Given the description of an element on the screen output the (x, y) to click on. 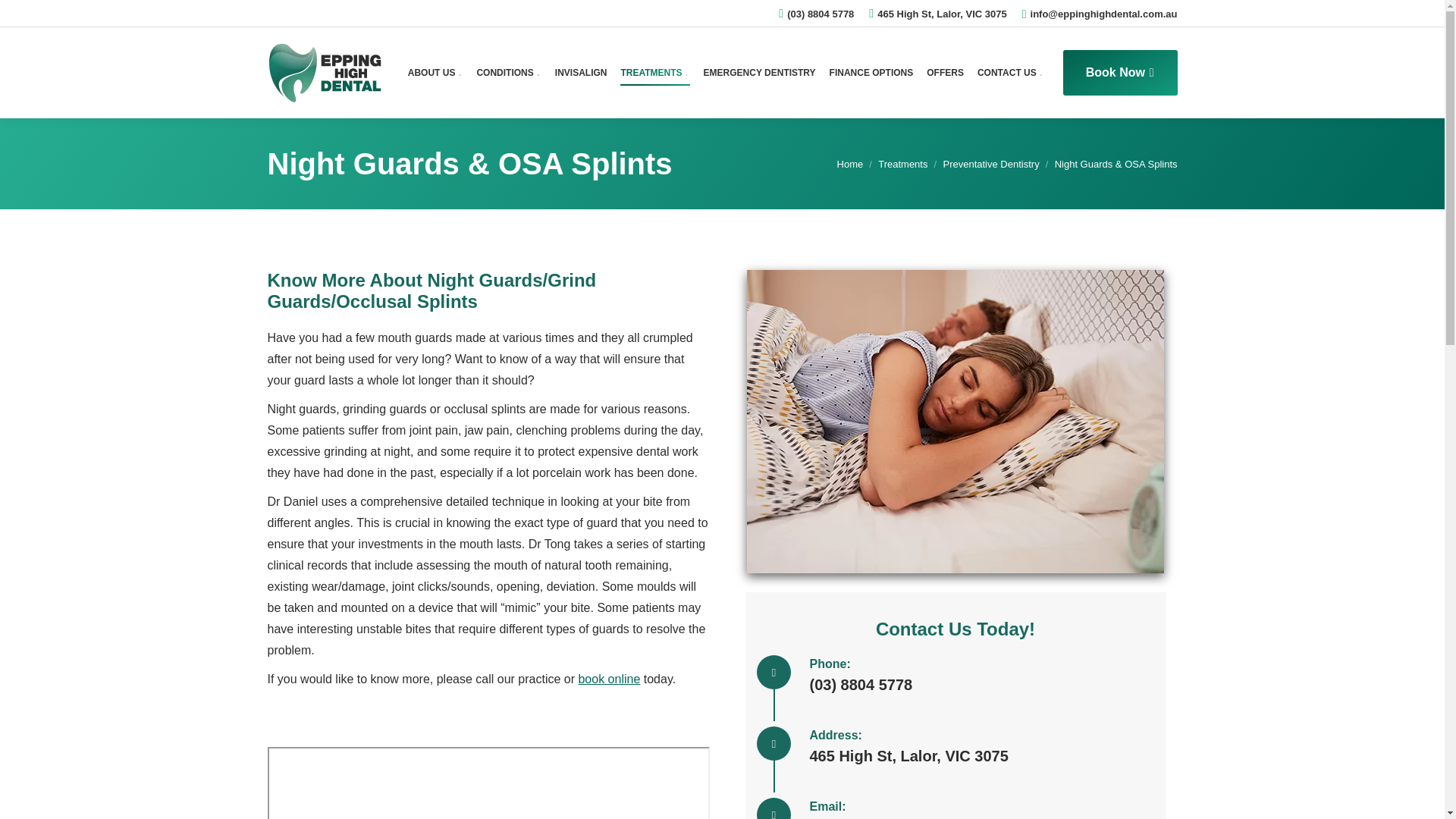
ABOUT US (435, 72)
TREATMENTS (654, 72)
INVISALIGN (581, 72)
CONDITIONS (507, 72)
465 High St, Lalor, VIC 3075 (942, 12)
